Given the description of an element on the screen output the (x, y) to click on. 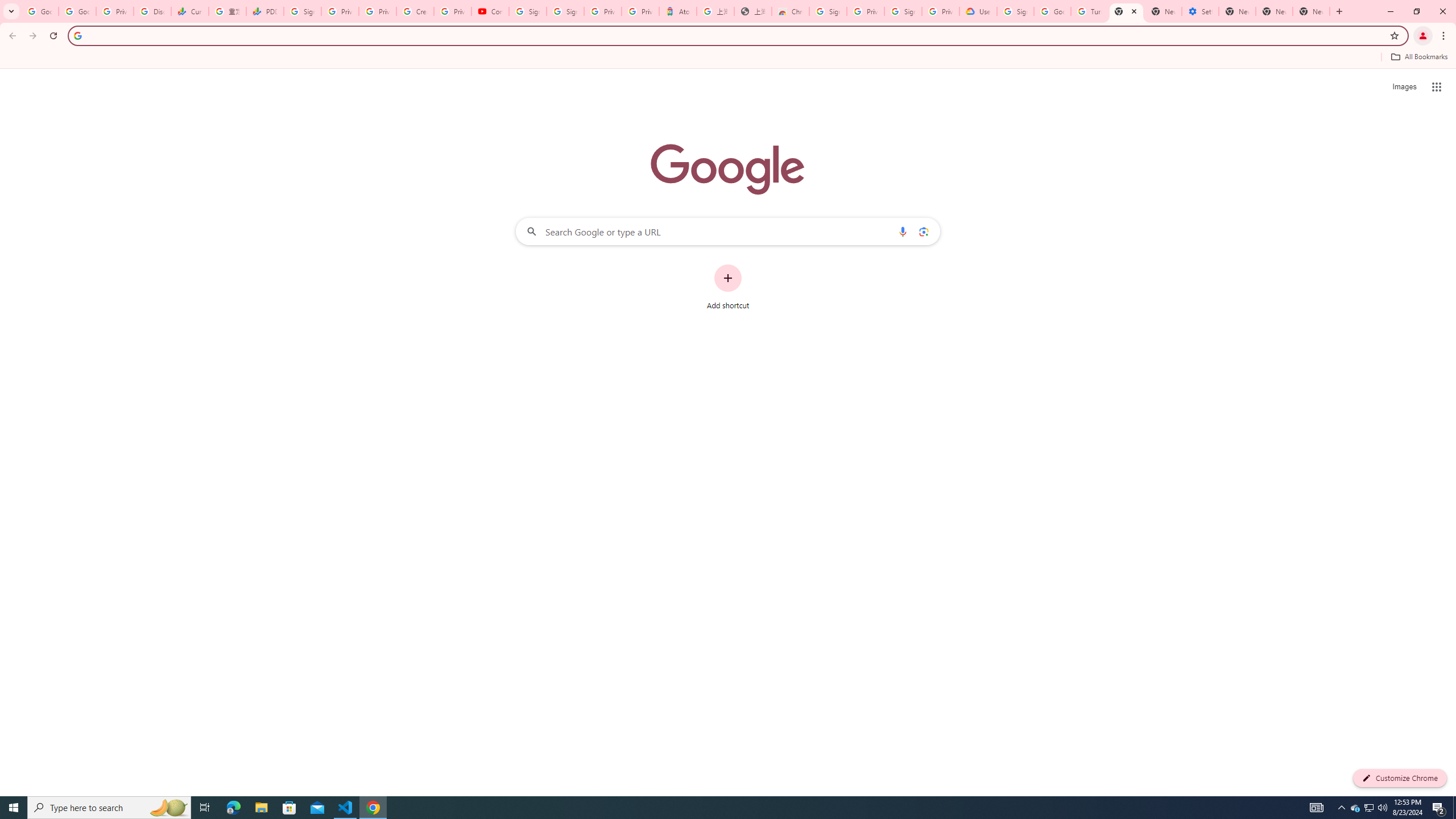
Settings - System (1200, 11)
New Tab (1126, 11)
Google Account Help (1052, 11)
Content Creator Programs & Opportunities - YouTube Creators (489, 11)
Customize Chrome (1399, 778)
Sign in - Google Accounts (527, 11)
Create your Google Account (415, 11)
